Given the description of an element on the screen output the (x, y) to click on. 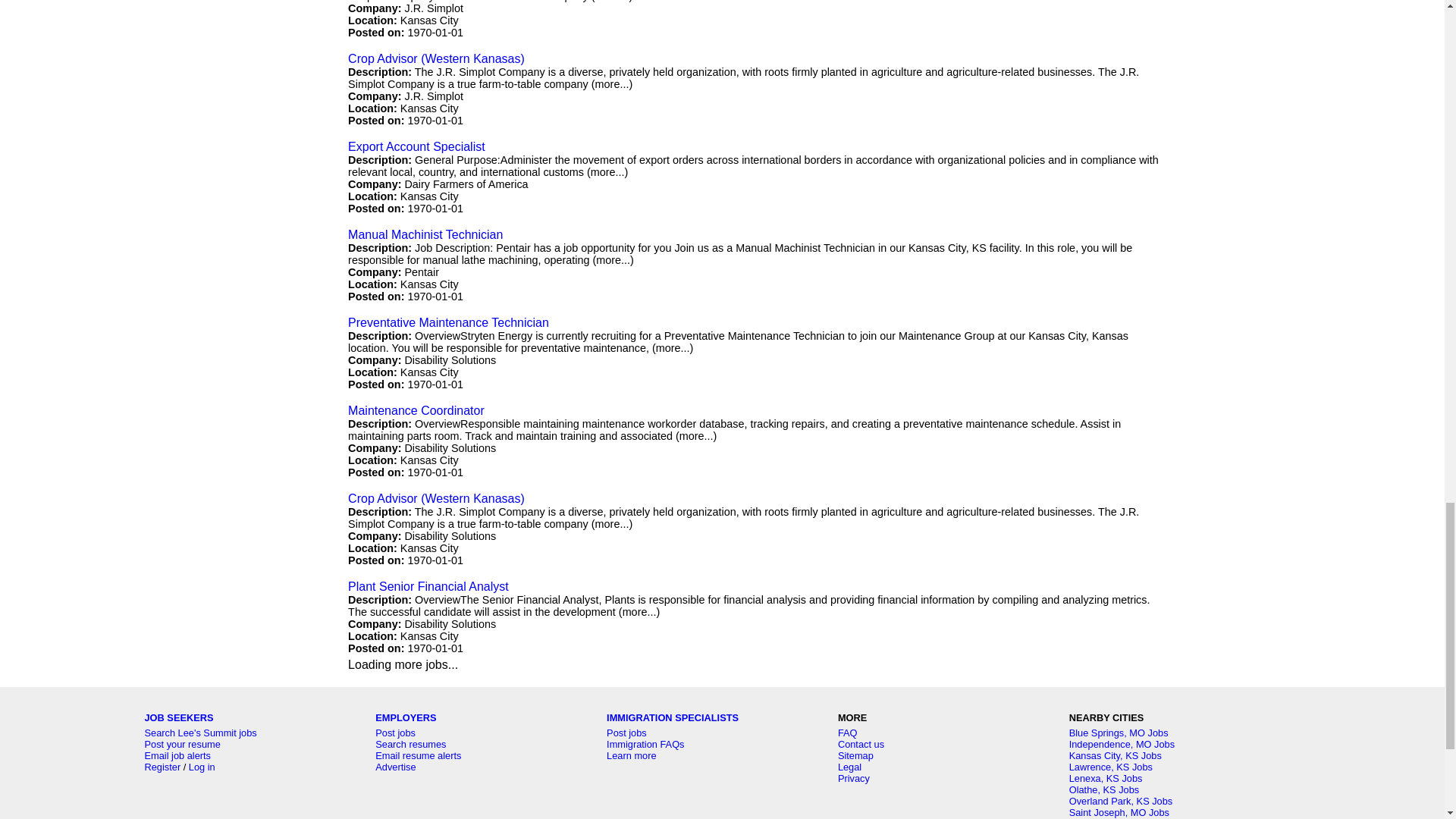
Preventative Maintenance Technician (447, 322)
Manual Machinist Technician (424, 234)
Export Account Specialist (415, 146)
Maintenance Coordinator (415, 410)
Plant Senior Financial Analyst (427, 585)
